Given the description of an element on the screen output the (x, y) to click on. 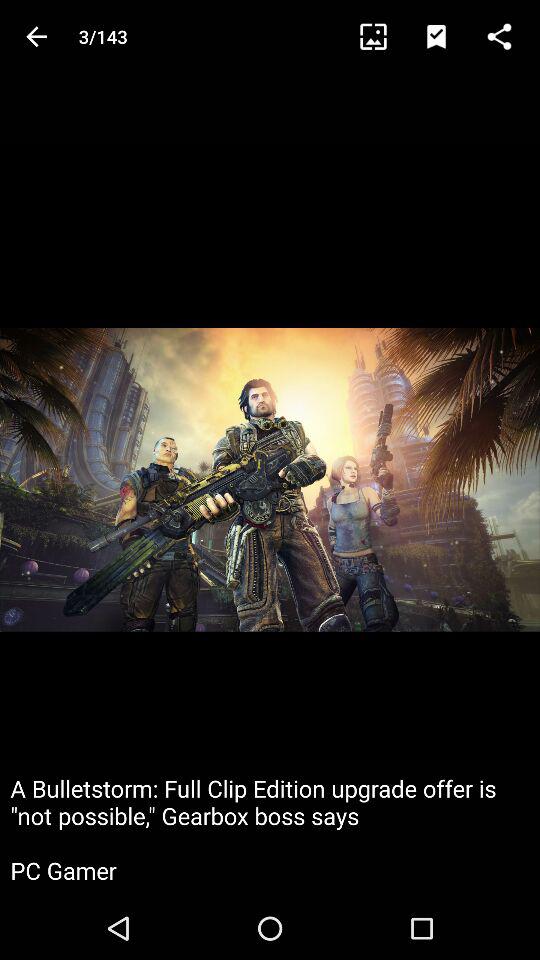
turn on item next to 3/143 icon (381, 36)
